Given the description of an element on the screen output the (x, y) to click on. 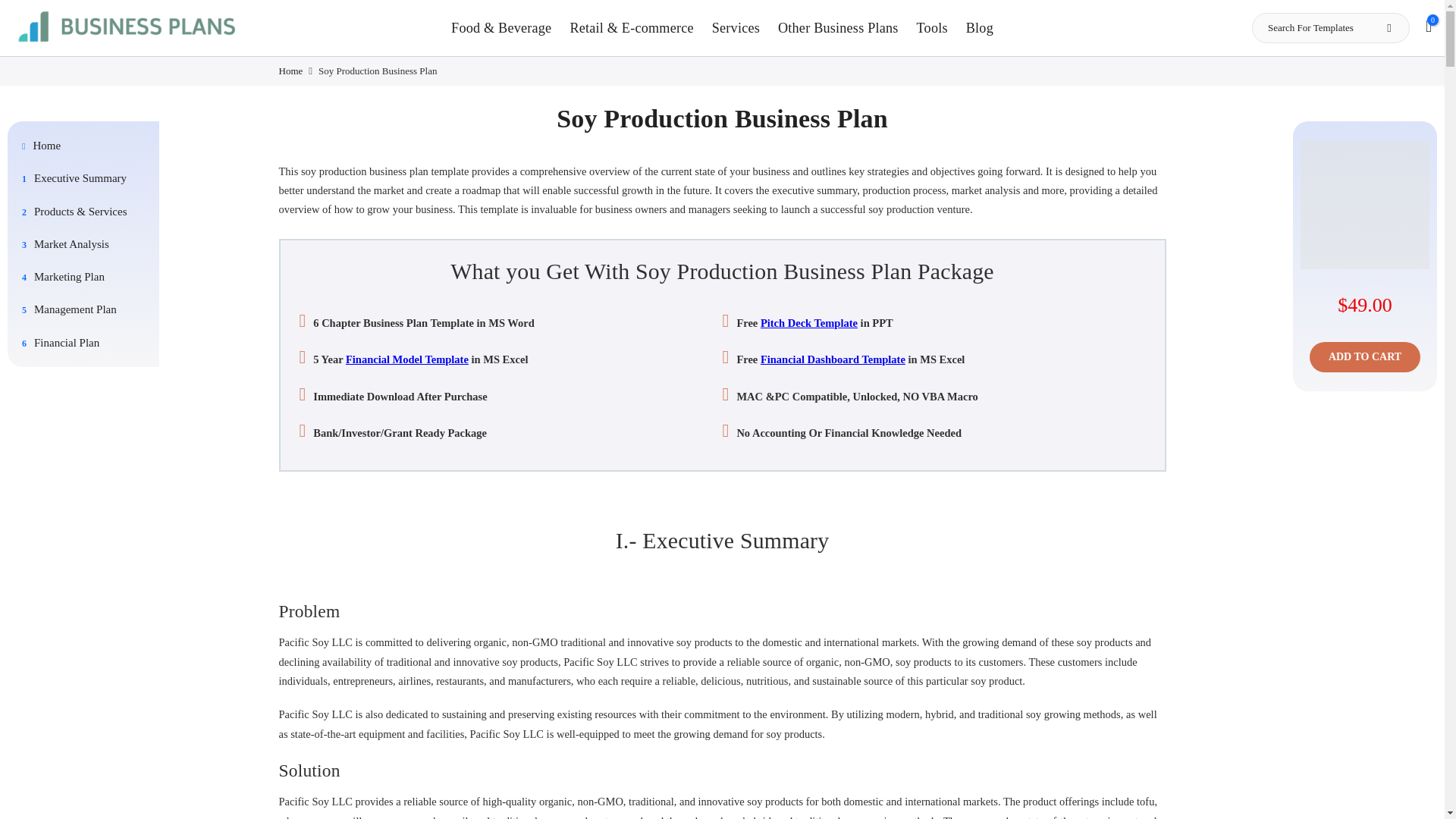
ADD TO CART (1364, 357)
Other Business Plans (837, 27)
Financial Dashboard Template (832, 358)
Home (290, 70)
Services (735, 27)
Financial Plan (85, 341)
Market Analysis (85, 244)
Home (85, 145)
Tools (931, 27)
Marketing Plan (85, 276)
Blog (979, 27)
Management Plan (85, 308)
Pitch Deck Template (808, 322)
Financial Model Template (407, 358)
Executive Summary (85, 177)
